Given the description of an element on the screen output the (x, y) to click on. 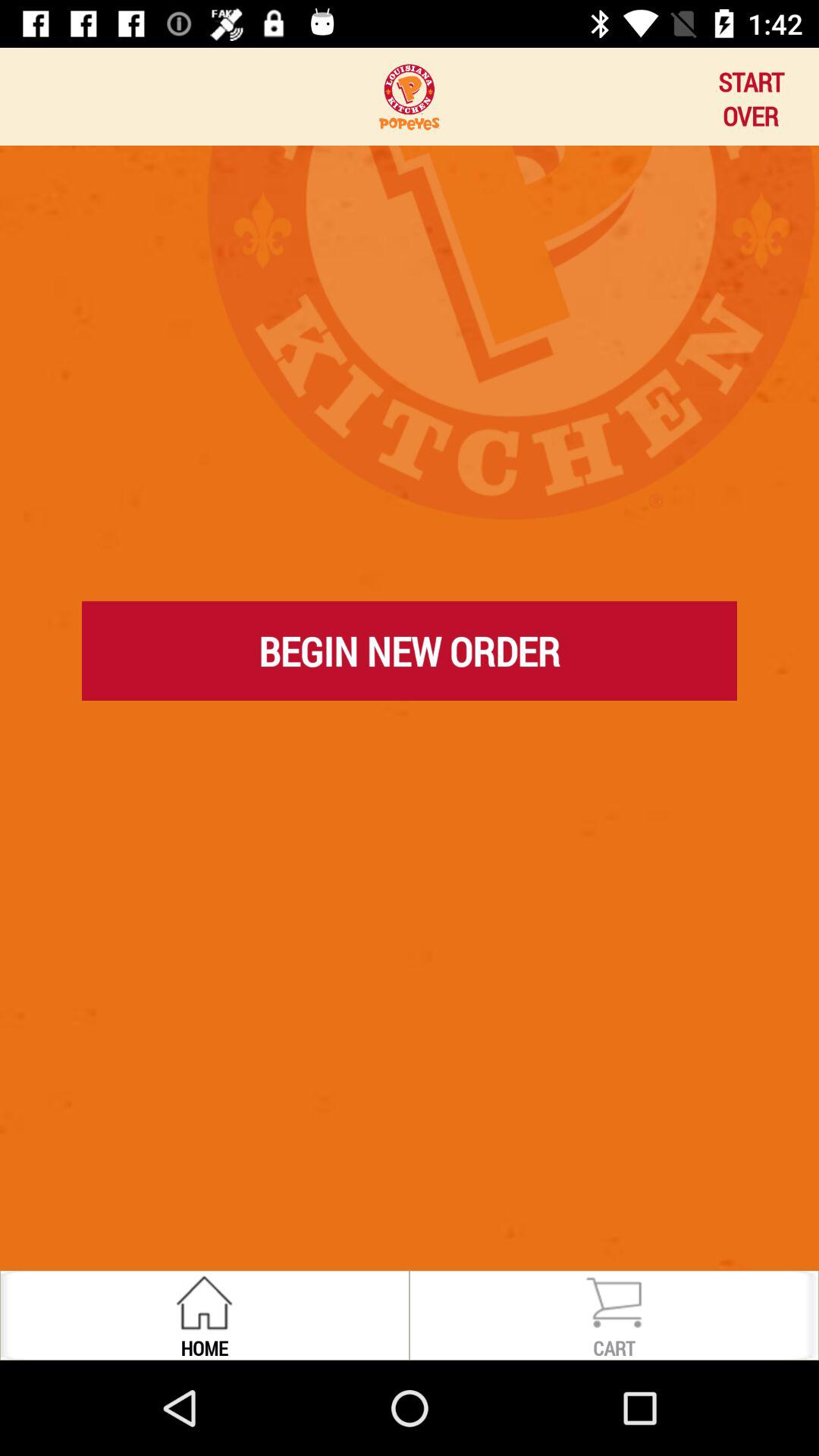
choose the cart icon (614, 1347)
